Given the description of an element on the screen output the (x, y) to click on. 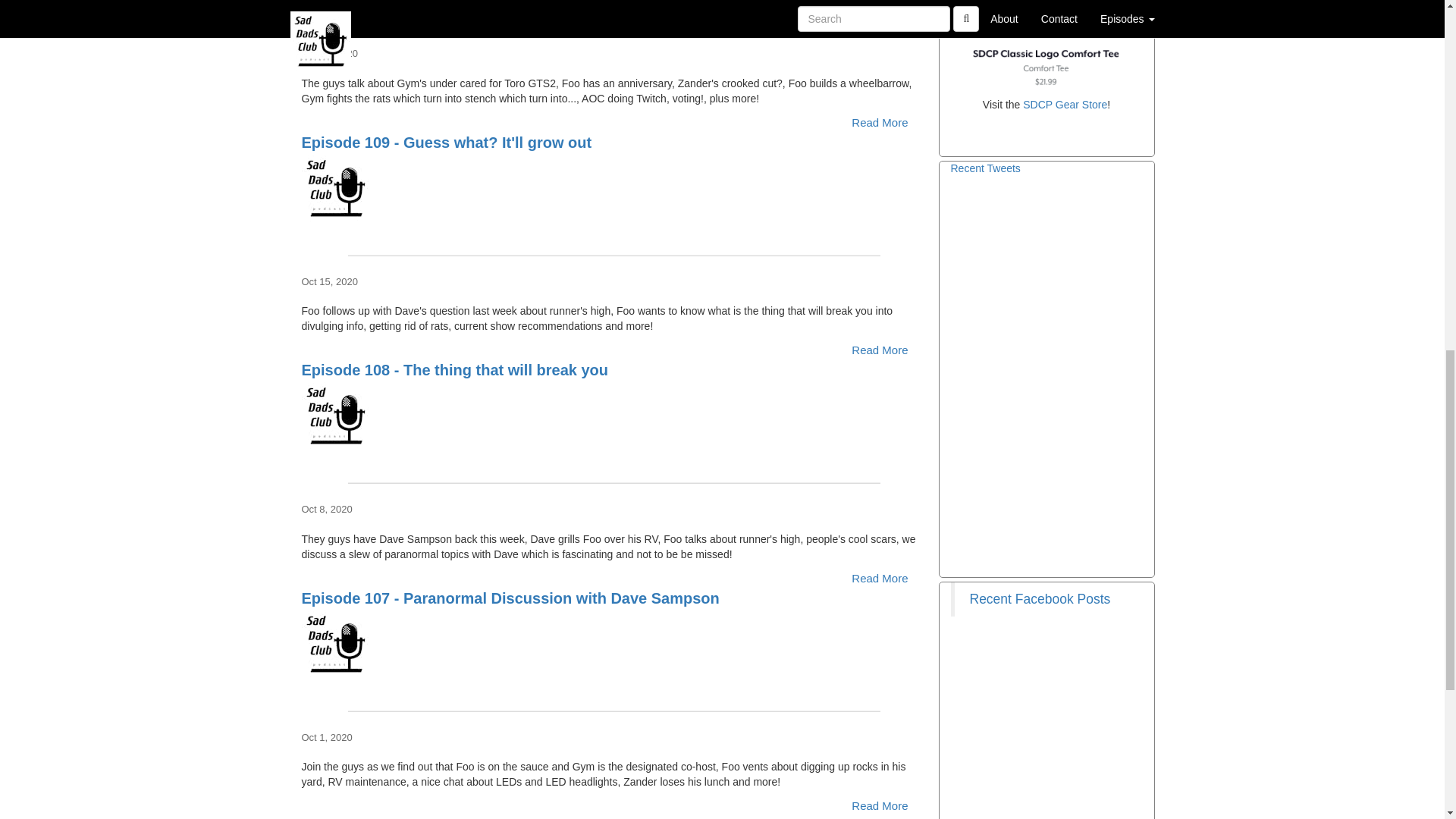
Episode 108 - The thing that will break you (614, 416)
SDCP Gear Store (1046, 45)
Episode 109 - Guess what?  It'll grow out (614, 188)
Episode 107 - Paranormal Discussion with Dave Sampson (614, 644)
SDCP Gear Store (1064, 104)
